Given the description of an element on the screen output the (x, y) to click on. 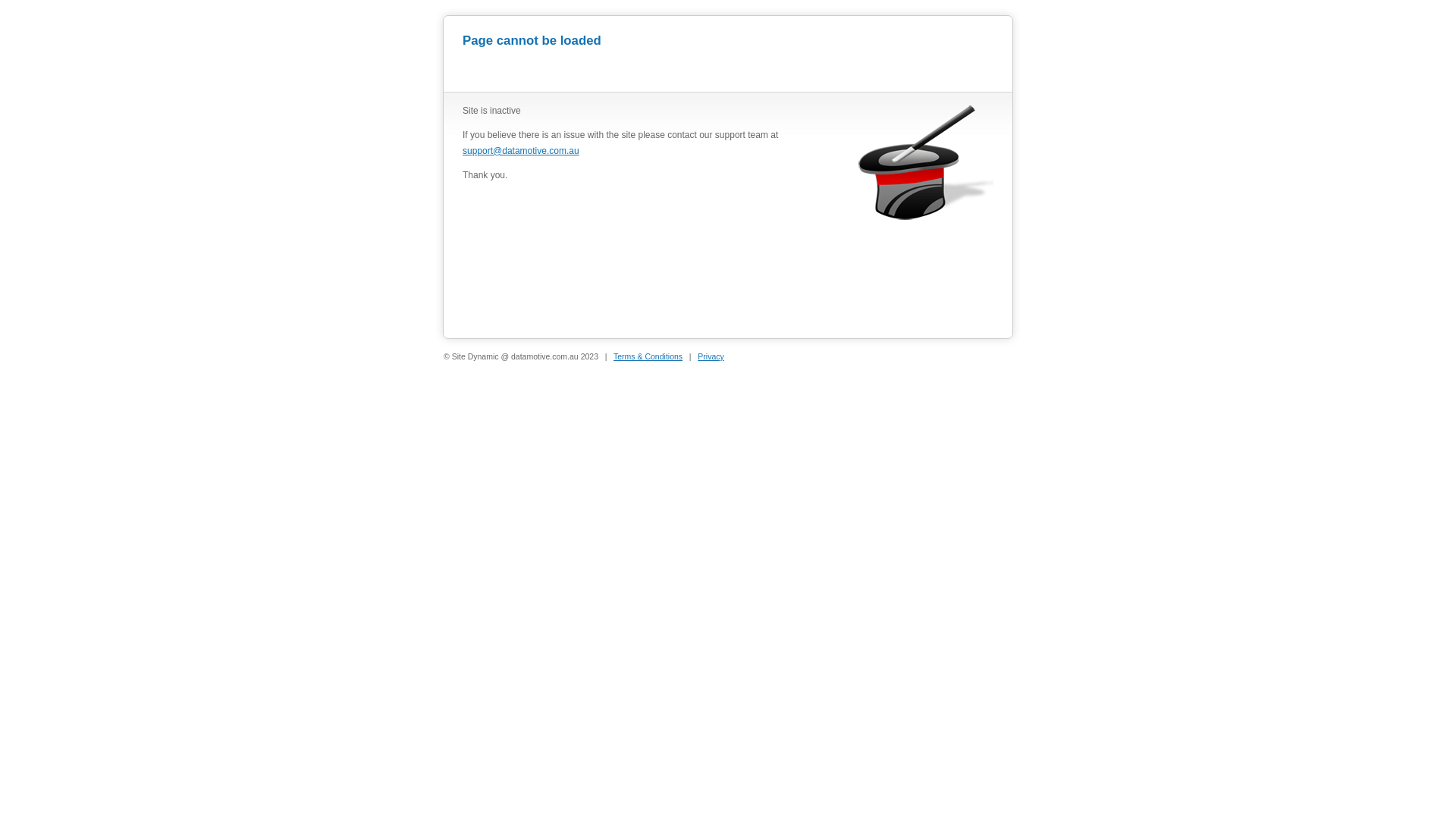
Terms & Conditions Element type: text (647, 355)
Privacy Element type: text (710, 355)
support@datamotive.com.au Element type: text (520, 150)
